Given the description of an element on the screen output the (x, y) to click on. 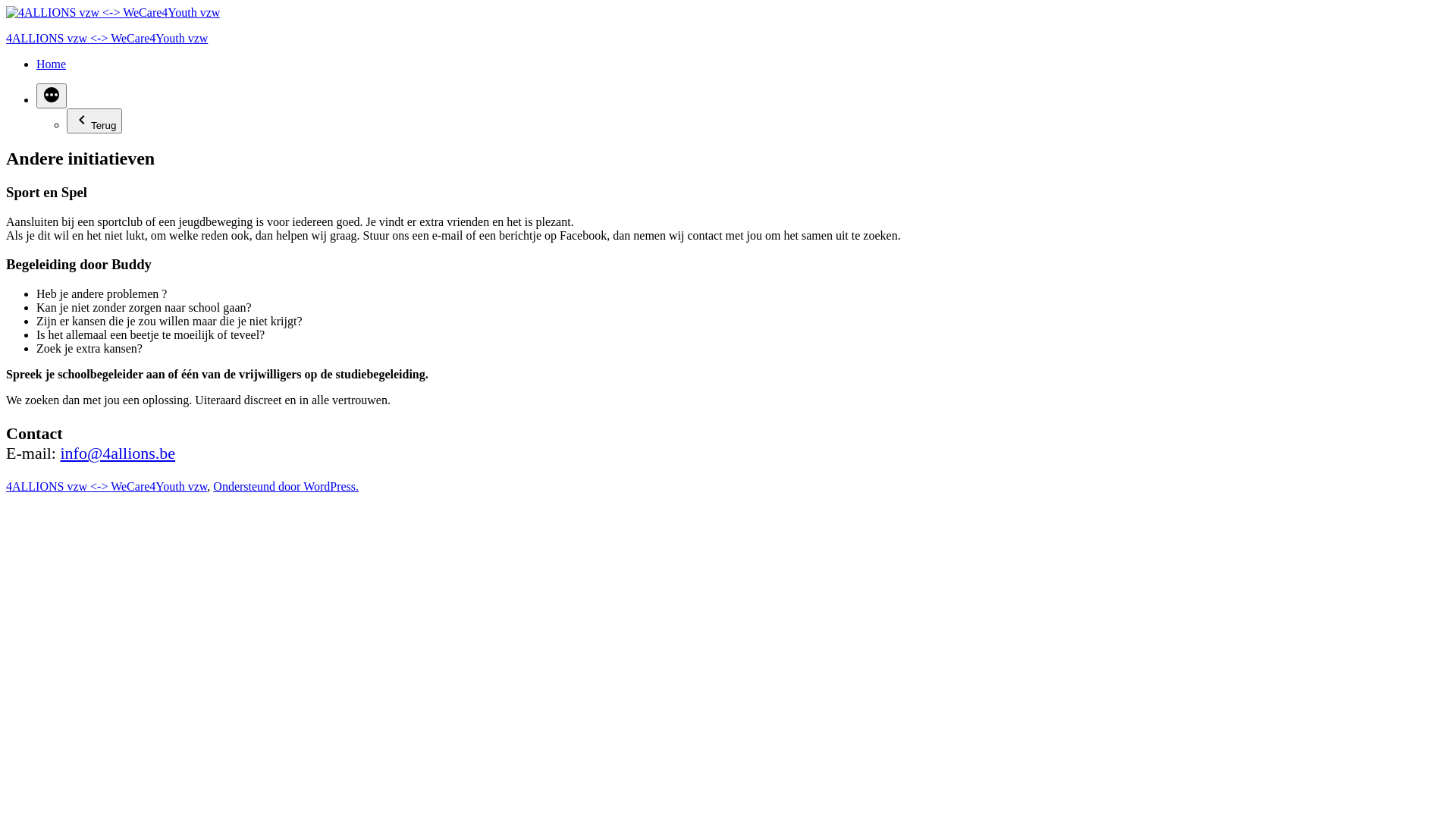
4ALLIONS vzw <-> WeCare4Youth vzw Element type: text (106, 486)
Terug Element type: text (94, 120)
4ALLIONS vzw <-> WeCare4Youth vzw Element type: text (106, 37)
Naar de inhoud springen Element type: text (5, 5)
Home Element type: text (50, 63)
Ondersteund door WordPress. Element type: text (285, 486)
info@4allions.be Element type: text (117, 452)
